Given the description of an element on the screen output the (x, y) to click on. 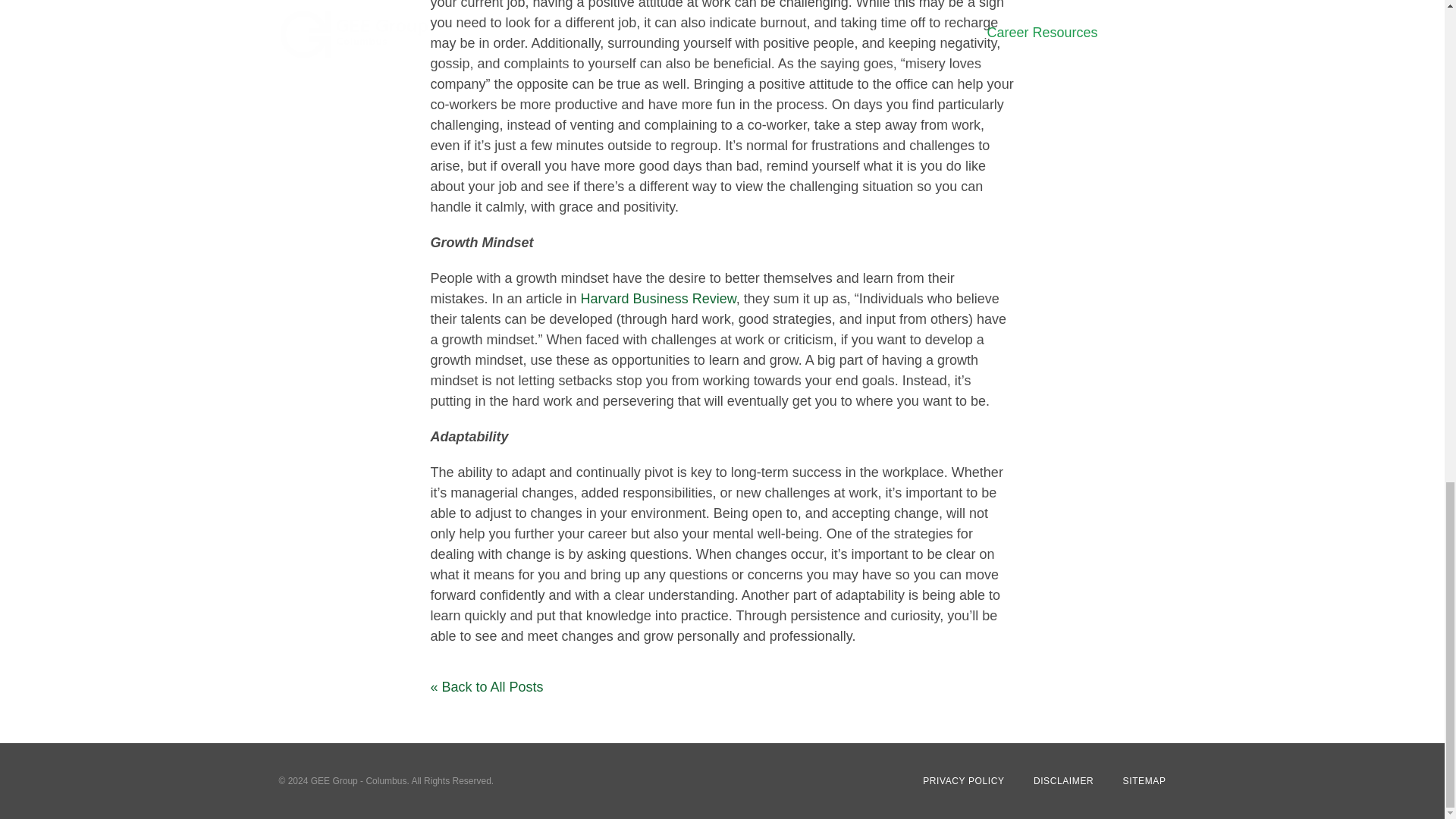
GEE Group - Columbus (359, 780)
PRIVACY POLICY (963, 780)
DISCLAIMER (1063, 780)
Harvard Business Review (658, 298)
SITEMAP (1144, 780)
